Given the description of an element on the screen output the (x, y) to click on. 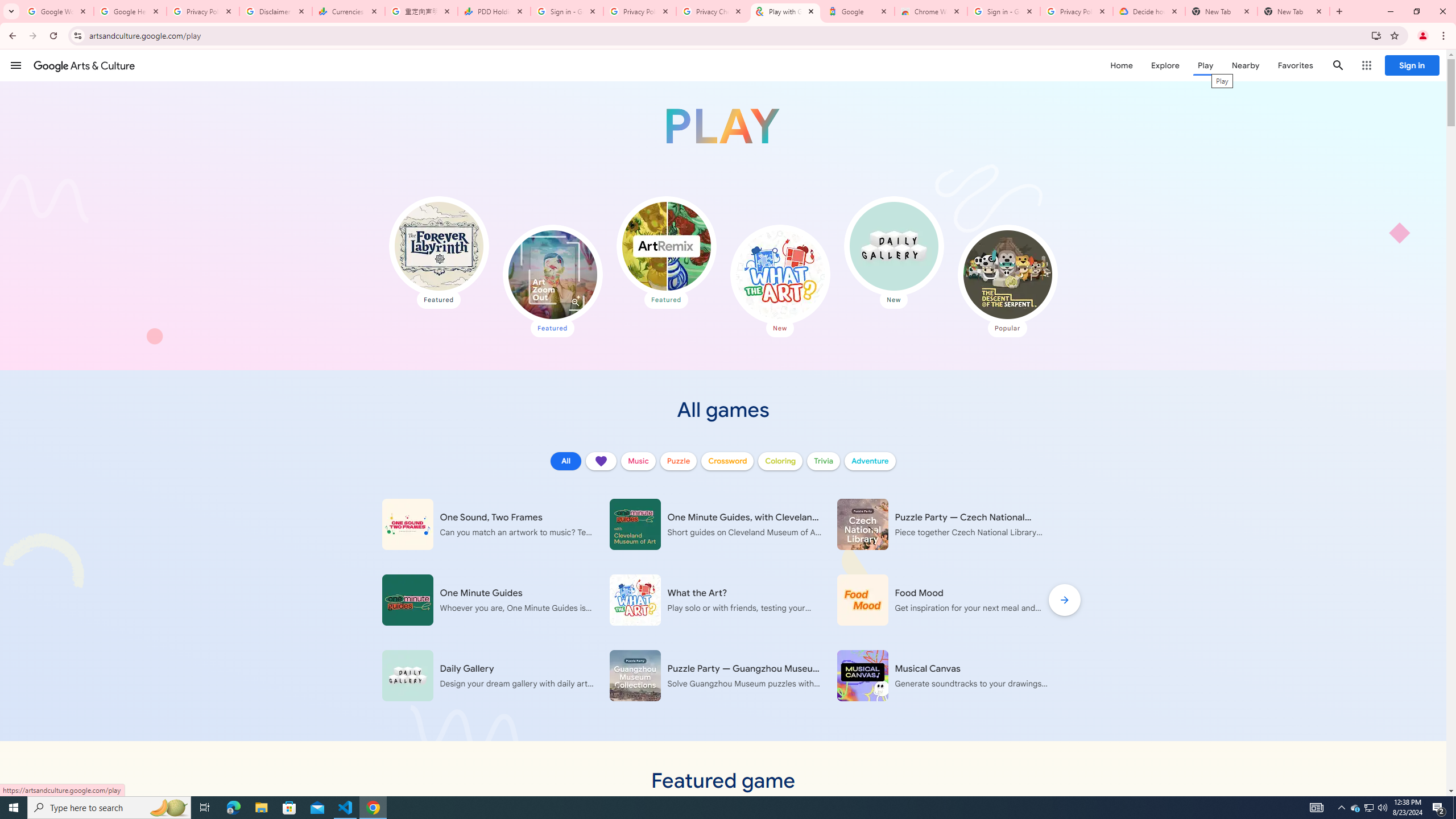
Sign in - Google Accounts (566, 11)
Install Google Arts & Culture (1376, 35)
Daily Gallery (893, 246)
